Given the description of an element on the screen output the (x, y) to click on. 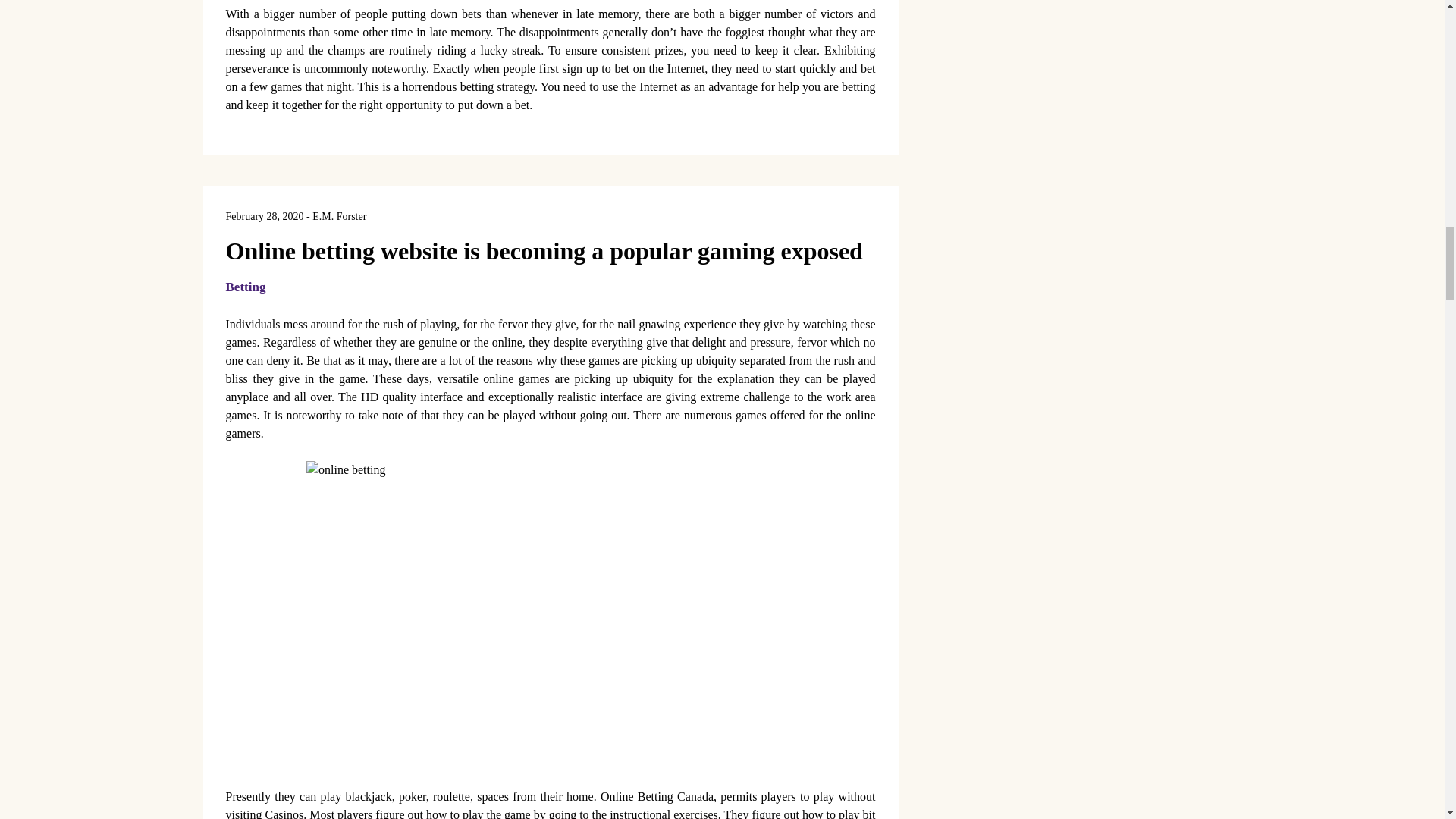
E.M. Forster (339, 215)
Betting (245, 287)
February 28, 2020 (264, 215)
Online betting website is becoming a popular gaming exposed (544, 250)
